Given the description of an element on the screen output the (x, y) to click on. 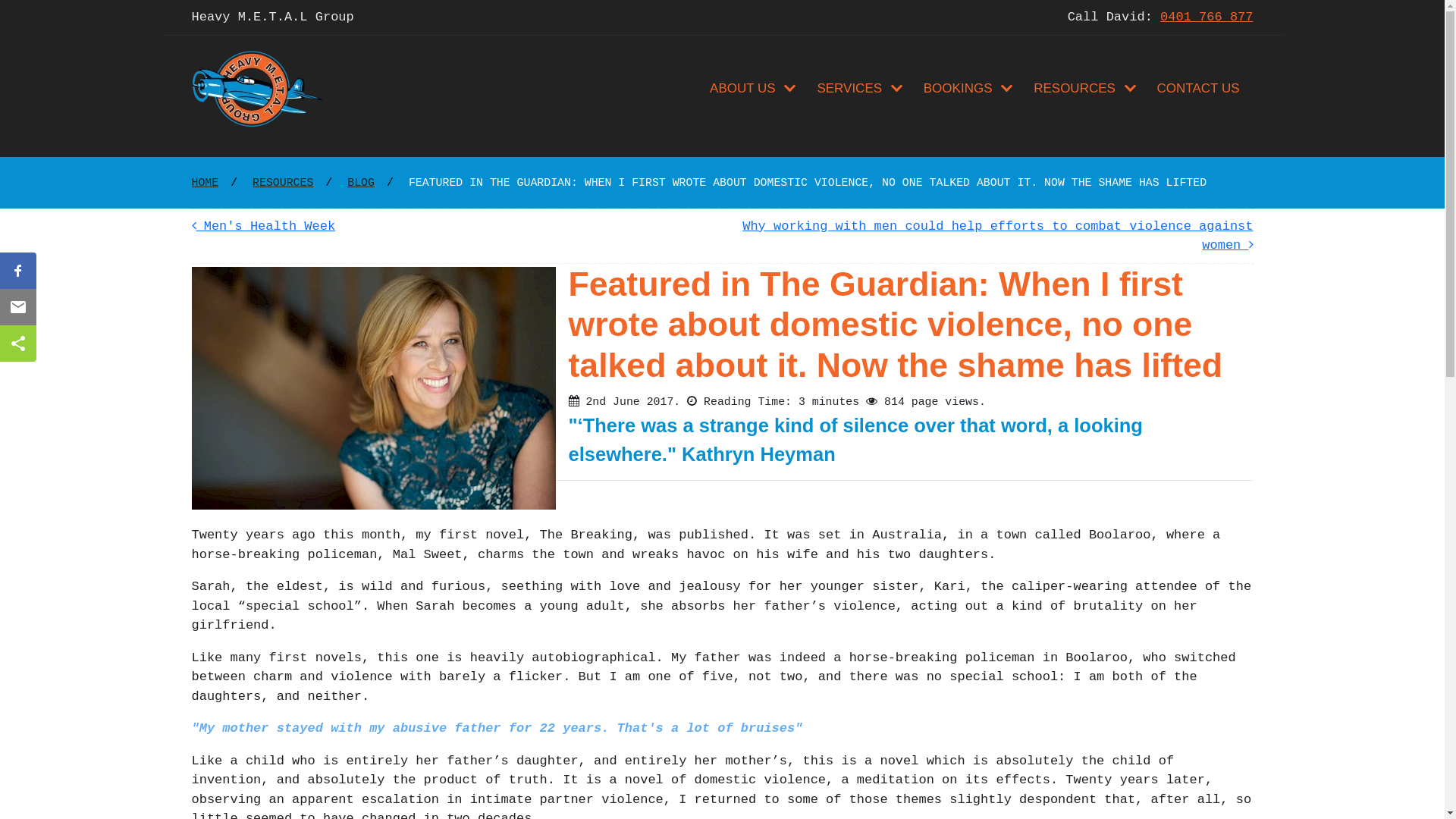
SERVICES   Element type: text (858, 88)
Men's Health Week Element type: text (263, 225)
RESOURCES Element type: text (282, 181)
0401 766 877 Element type: text (1206, 16)
RESOURCES   Element type: text (1083, 88)
BLOG Element type: text (360, 181)
CONTACT US Element type: text (1198, 88)
ABOUT US   Element type: text (751, 88)
BOOKINGS   Element type: text (966, 88)
HOME Element type: text (204, 181)
